Given the description of an element on the screen output the (x, y) to click on. 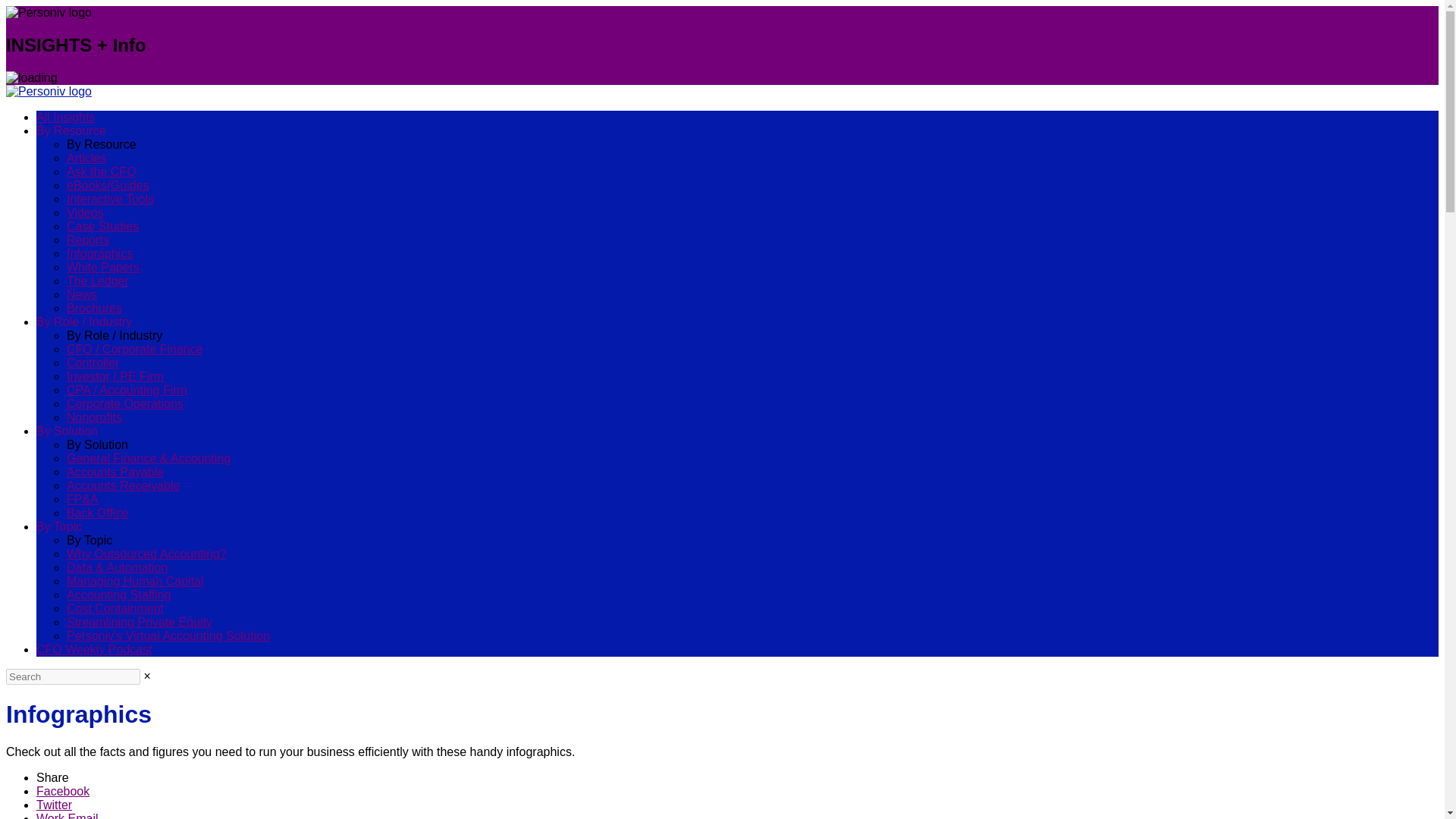
Interactive Tools (110, 198)
Back Office (97, 512)
Accounts Payable (114, 472)
Why Outsourced Accounting? (146, 553)
Personiv (48, 91)
Facebook (62, 790)
Streamlining Private Equity (139, 621)
By Solution (66, 431)
Cost Containment (114, 608)
News (81, 294)
